Given the description of an element on the screen output the (x, y) to click on. 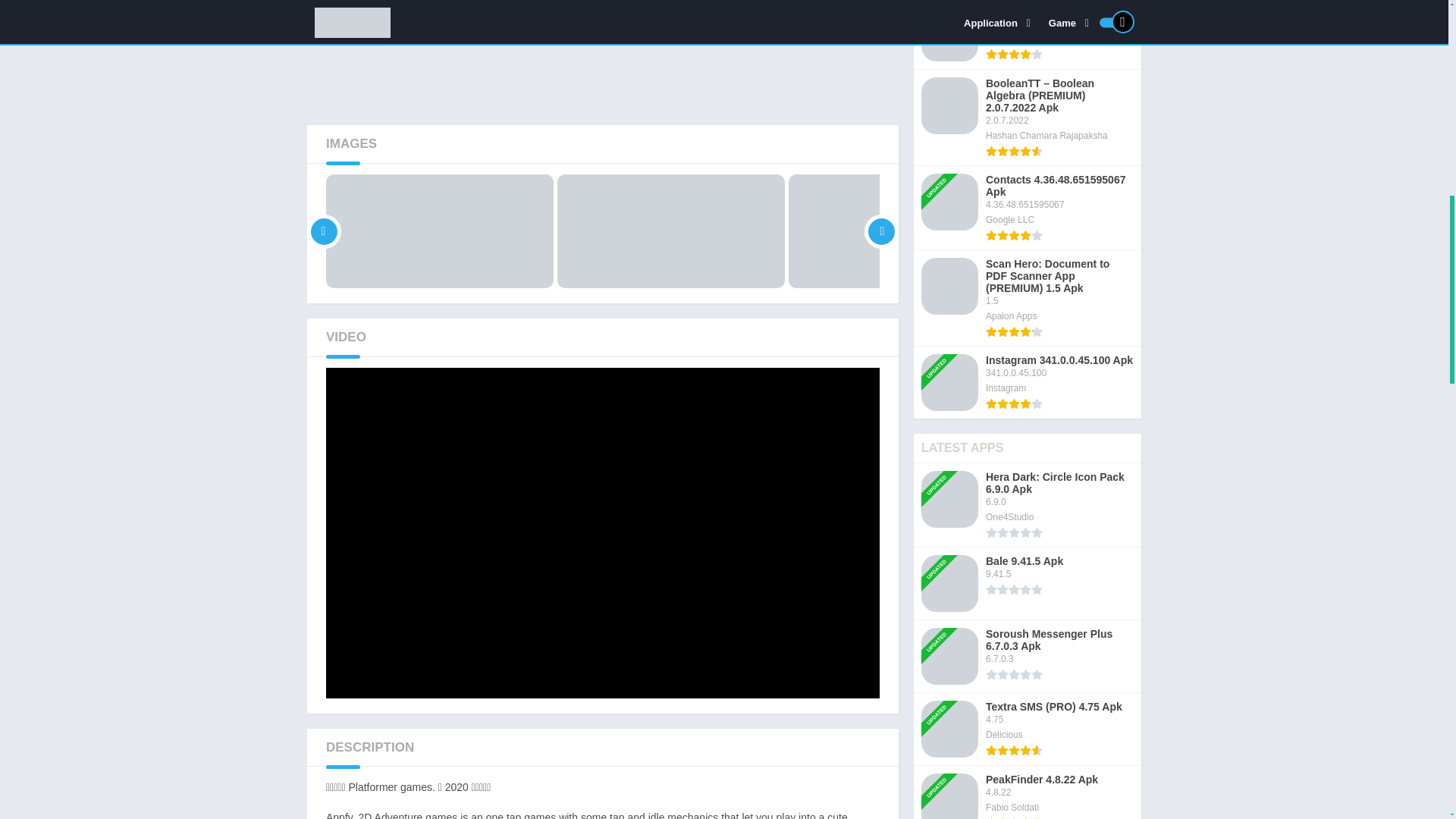
Advertisement (602, 54)
